Given the description of an element on the screen output the (x, y) to click on. 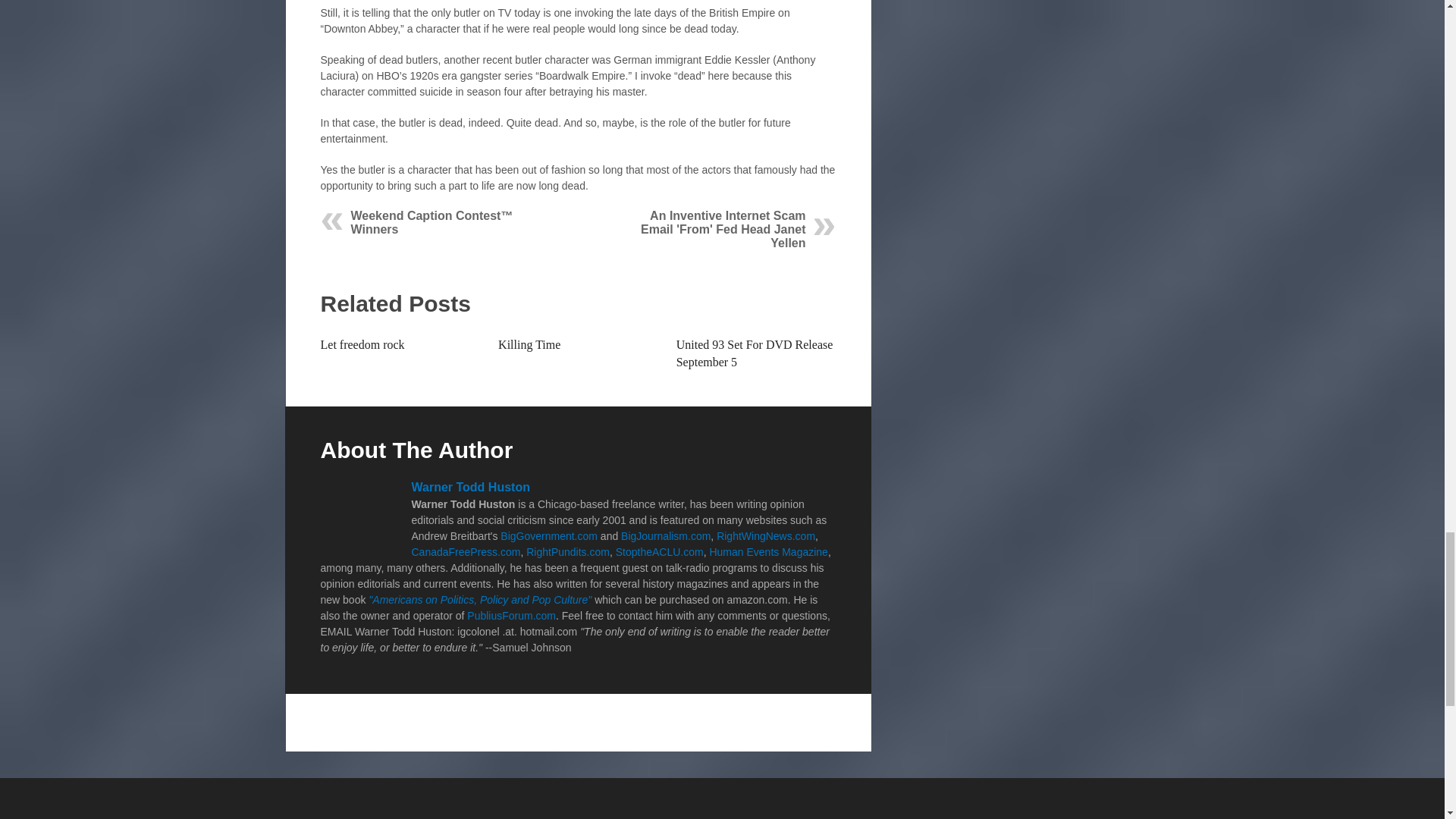
United 93 Set For DVD Release September 5 (754, 352)
Let freedom rock (362, 344)
BigJournalism.com (665, 535)
CanadaFreePress.com (464, 551)
Warner Todd Huston (469, 486)
United 93 Set For DVD Release September 5 (754, 352)
Killing Time (528, 344)
Killing Time (528, 344)
RightPundits.com (567, 551)
Let freedom rock (362, 344)
